Given the description of an element on the screen output the (x, y) to click on. 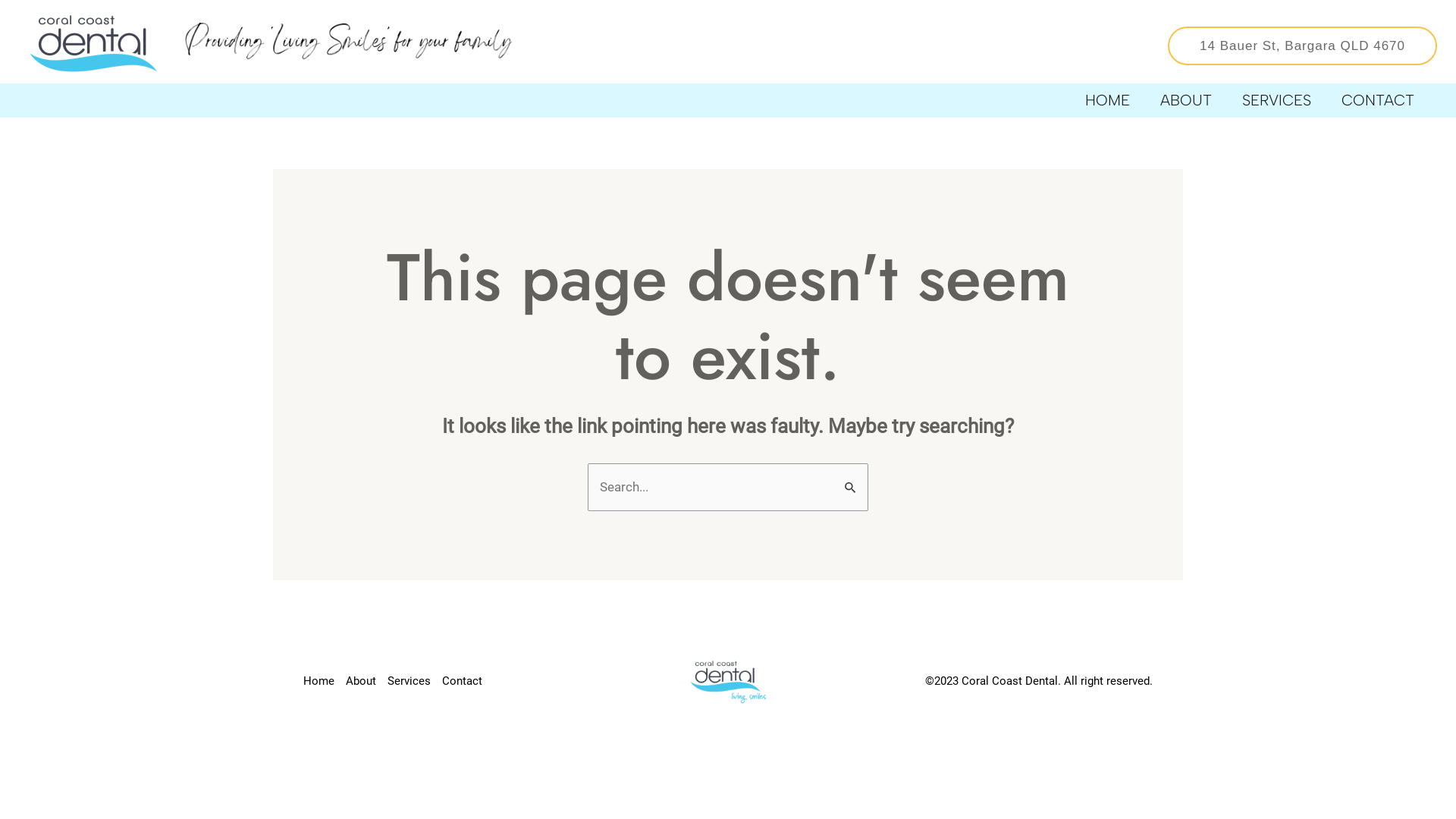
14 Bauer St, Bargara QLD 4670 Element type: text (1279, 44)
Services Element type: text (414, 681)
CONTACT Element type: text (1377, 100)
ABOUT Element type: text (1185, 100)
HOME Element type: text (1107, 100)
About Element type: text (366, 681)
Contact Element type: text (467, 681)
Search Element type: text (851, 479)
SERVICES Element type: text (1276, 100)
Home Element type: text (324, 681)
